Given the description of an element on the screen output the (x, y) to click on. 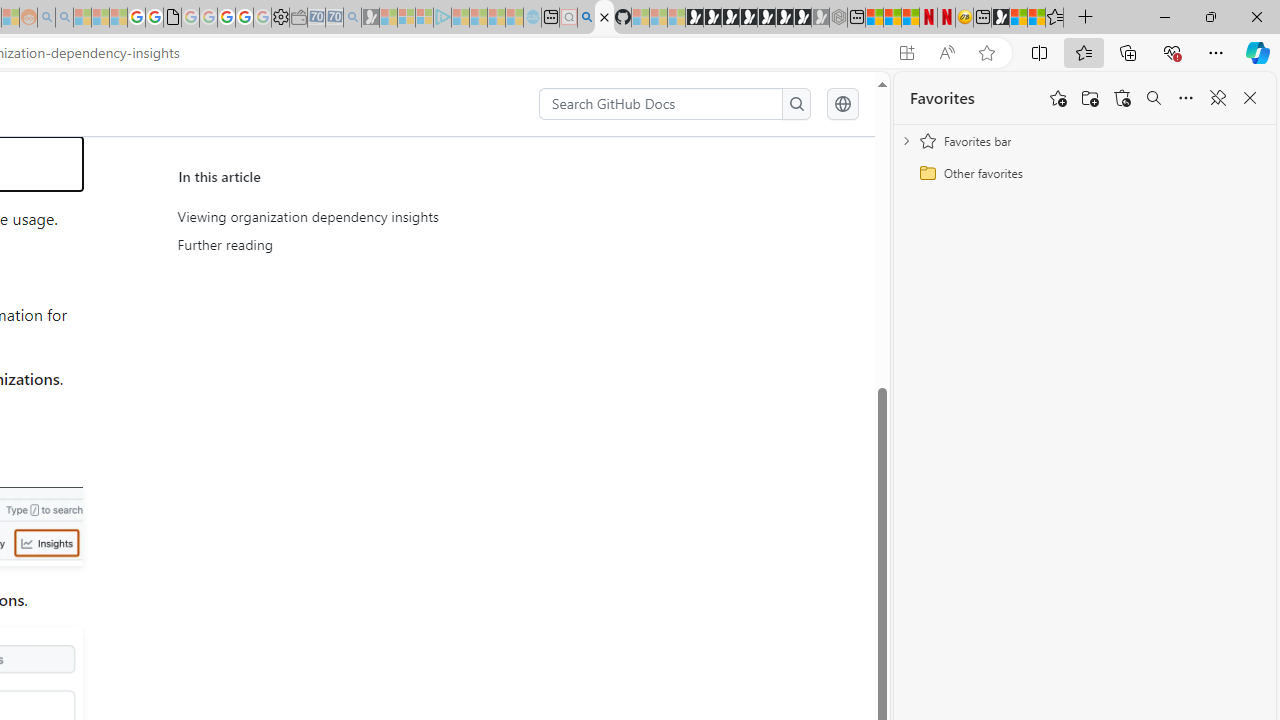
Close favorites (1250, 98)
App available. Install GitHub Docs (906, 53)
Search GitHub Docs (661, 103)
